Given the description of an element on the screen output the (x, y) to click on. 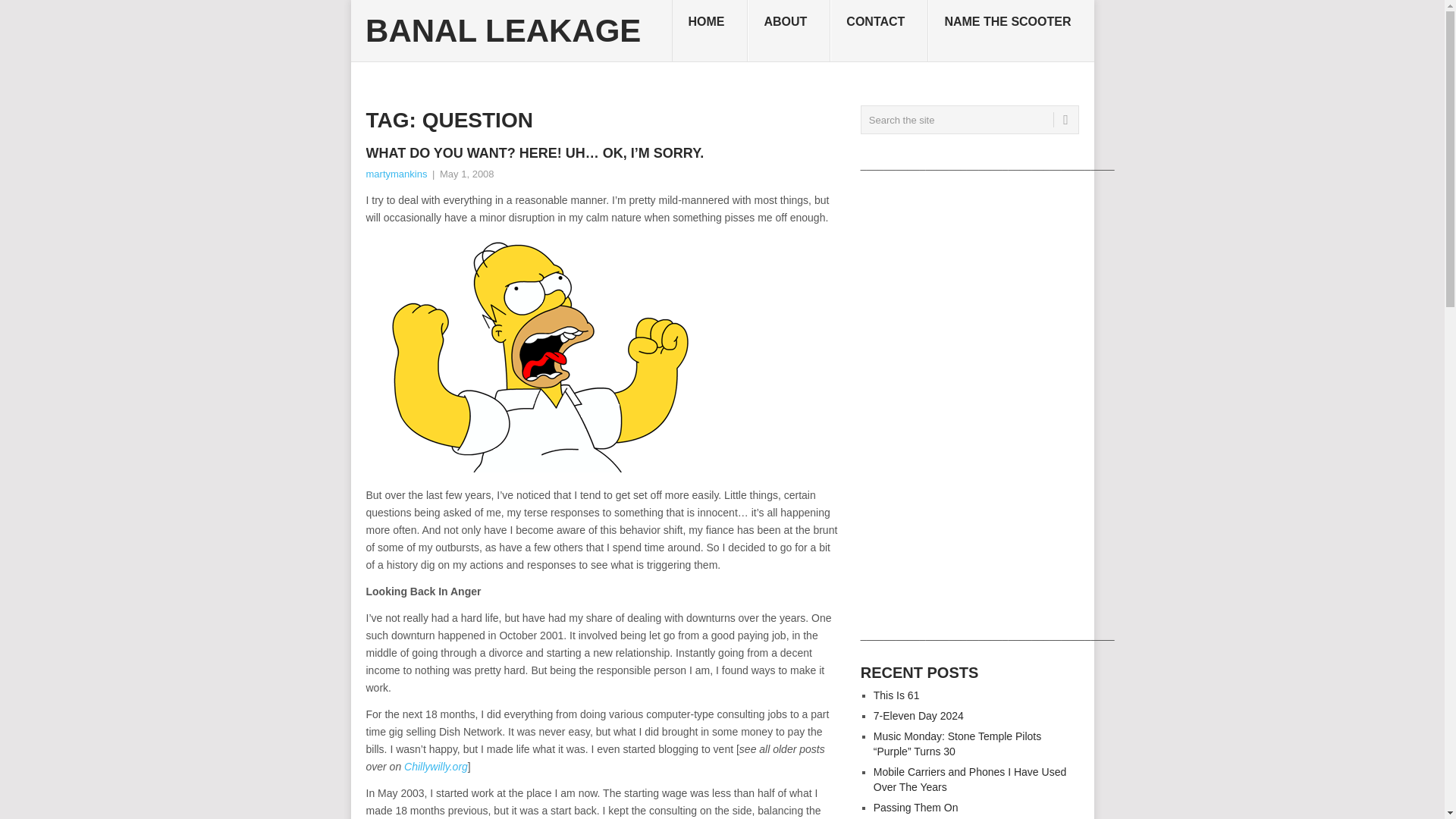
CONTACT (878, 31)
7-Eleven Day 2024 (918, 715)
NAME THE SCOOTER (1010, 31)
BANAL LEAKAGE (502, 30)
Passing Them On (915, 807)
Posts by martymankins (395, 173)
Chillywilly.org (435, 766)
ABOUT (788, 31)
martymankins (395, 173)
Mobile Carriers and Phones I Have Used Over The Years (969, 779)
